Given the description of an element on the screen output the (x, y) to click on. 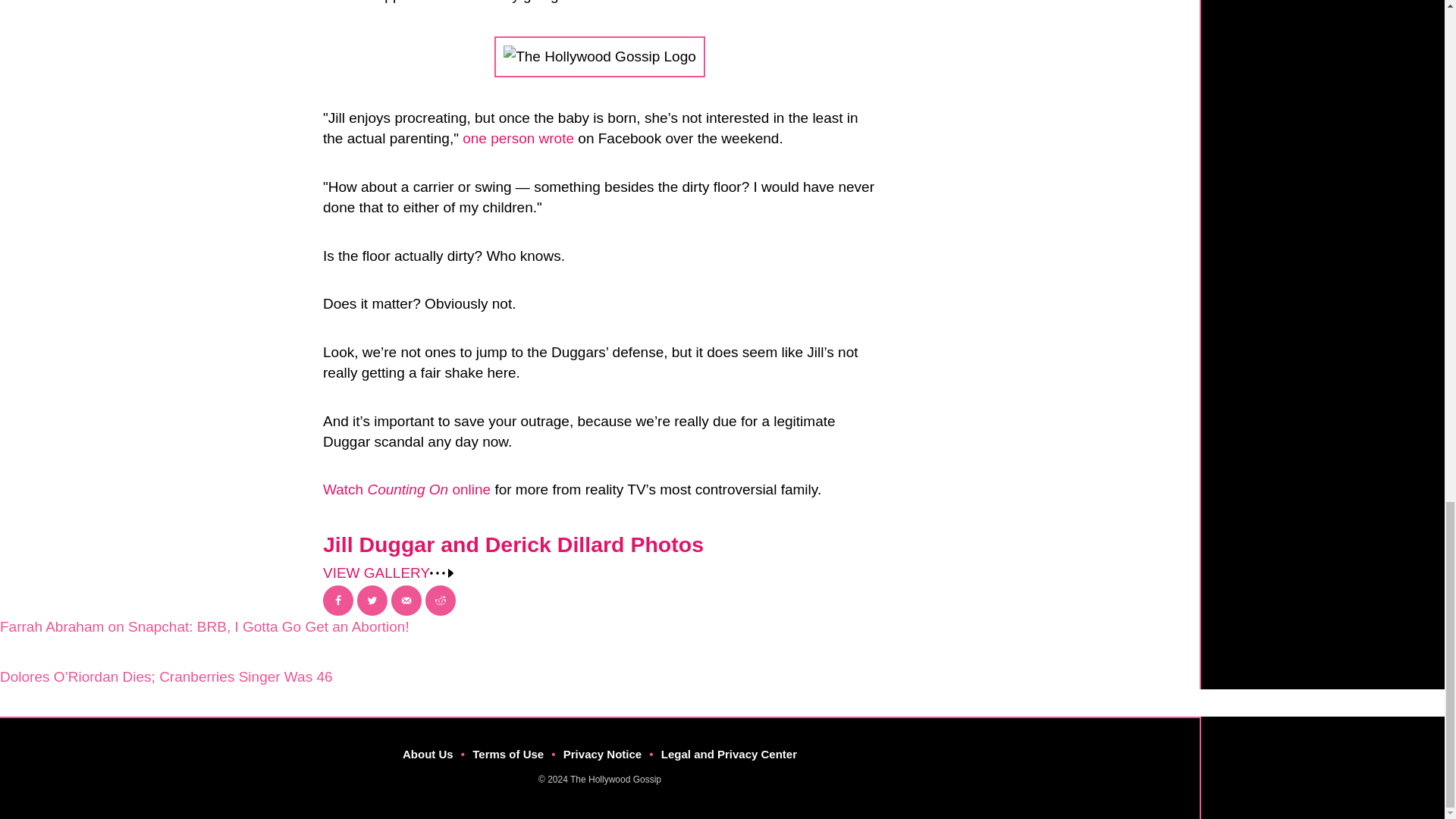
Share on Reddit (440, 600)
Share on Twitter (371, 600)
Send over email (406, 600)
Share on Facebook (338, 600)
